Given the description of an element on the screen output the (x, y) to click on. 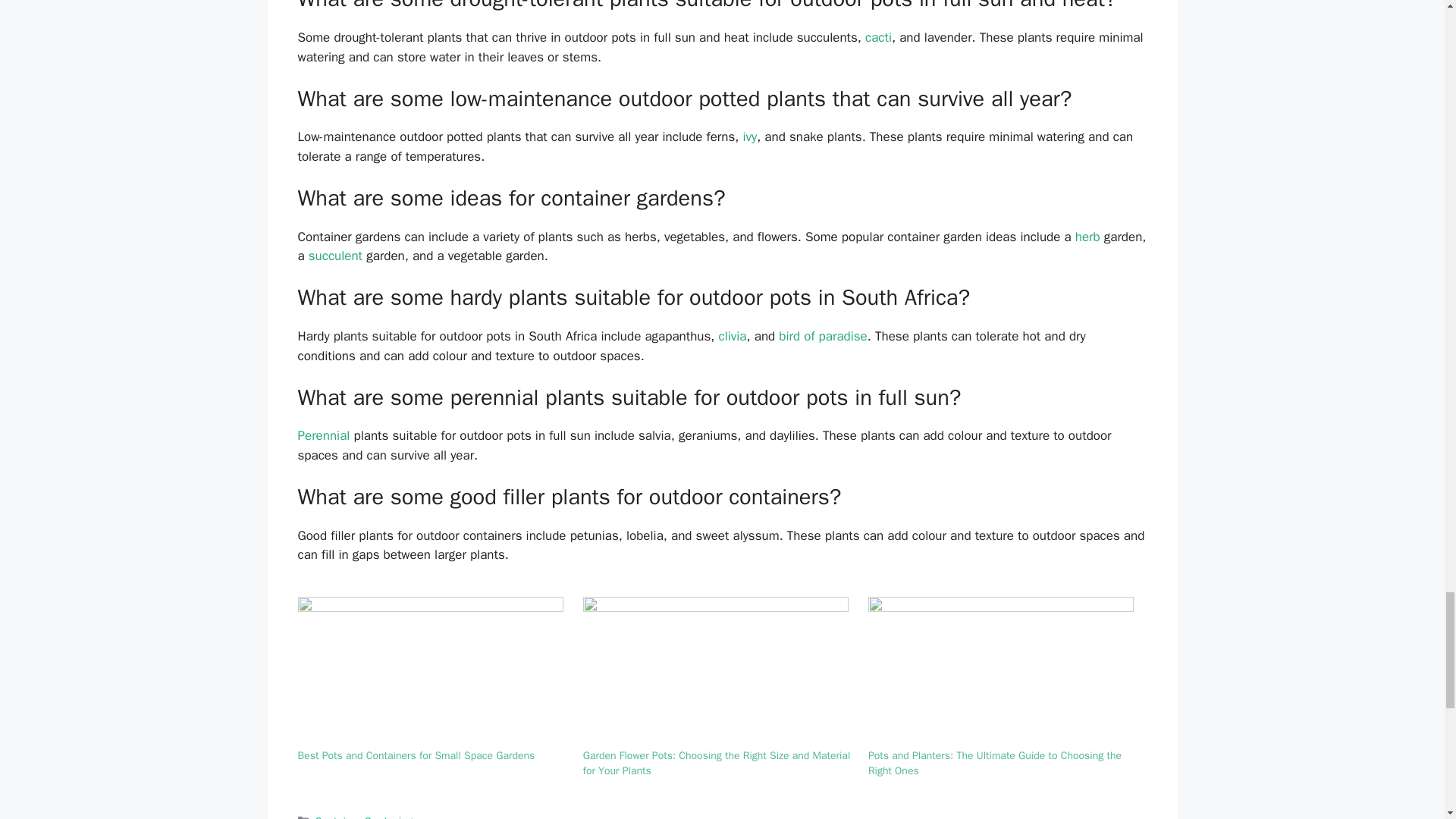
succulent (335, 255)
bird of paradise (822, 335)
clivia (732, 335)
Best Pots and Containers for Small Space Gardens (415, 755)
Best Pots and Containers for Small Space Gardens (432, 672)
Best Pots and Containers for Small Space Gardens (415, 755)
ivy (749, 136)
Perennial (323, 435)
herb (1087, 236)
cacti (877, 37)
